Given the description of an element on the screen output the (x, y) to click on. 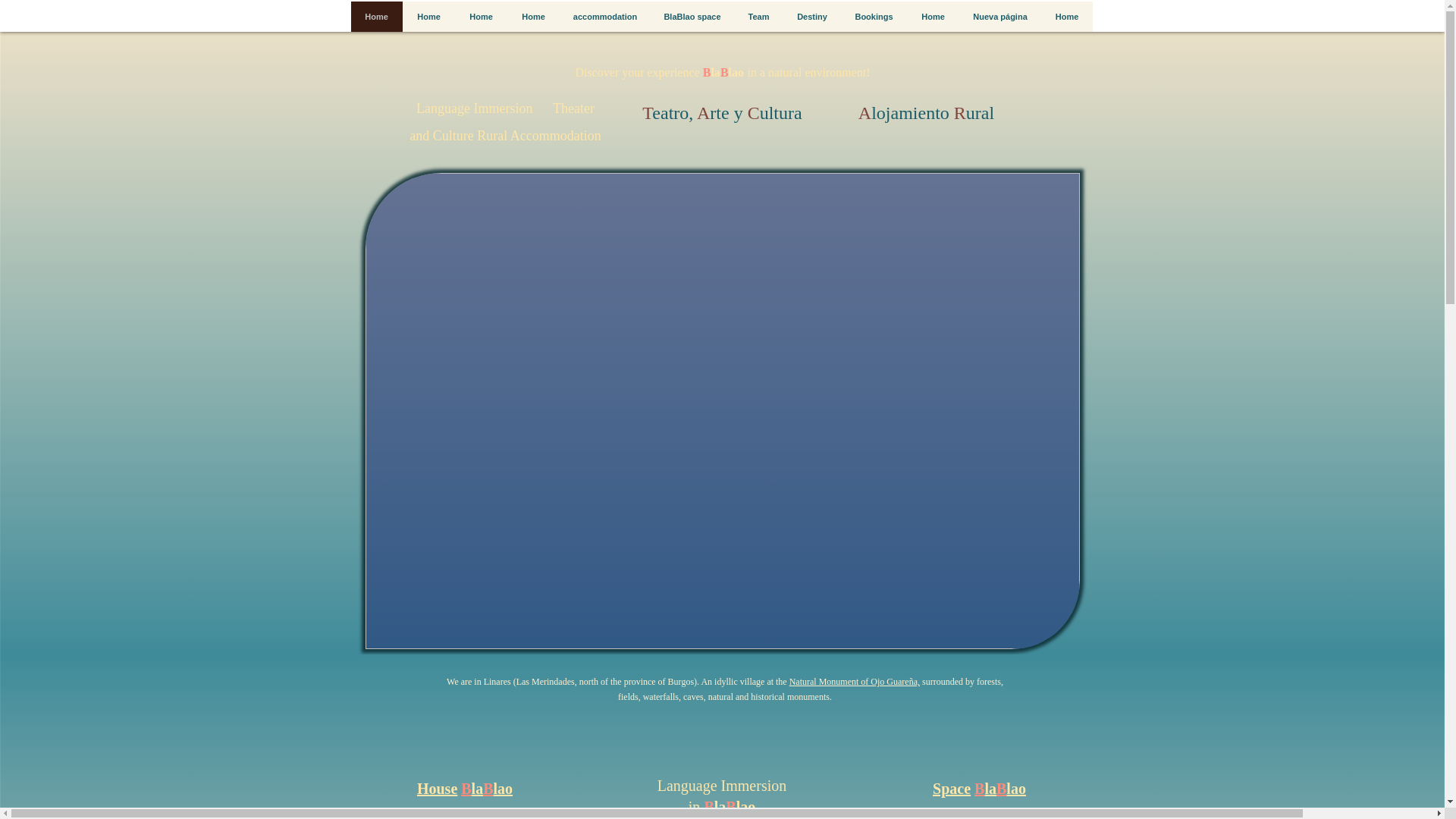
Team (758, 16)
Home (375, 16)
accommodation (604, 16)
Home (933, 16)
Home (532, 16)
Space BlaBlao (979, 788)
BlaBlao space (691, 16)
House BlaBlao (464, 788)
Home (1066, 16)
Destiny (811, 16)
